Given the description of an element on the screen output the (x, y) to click on. 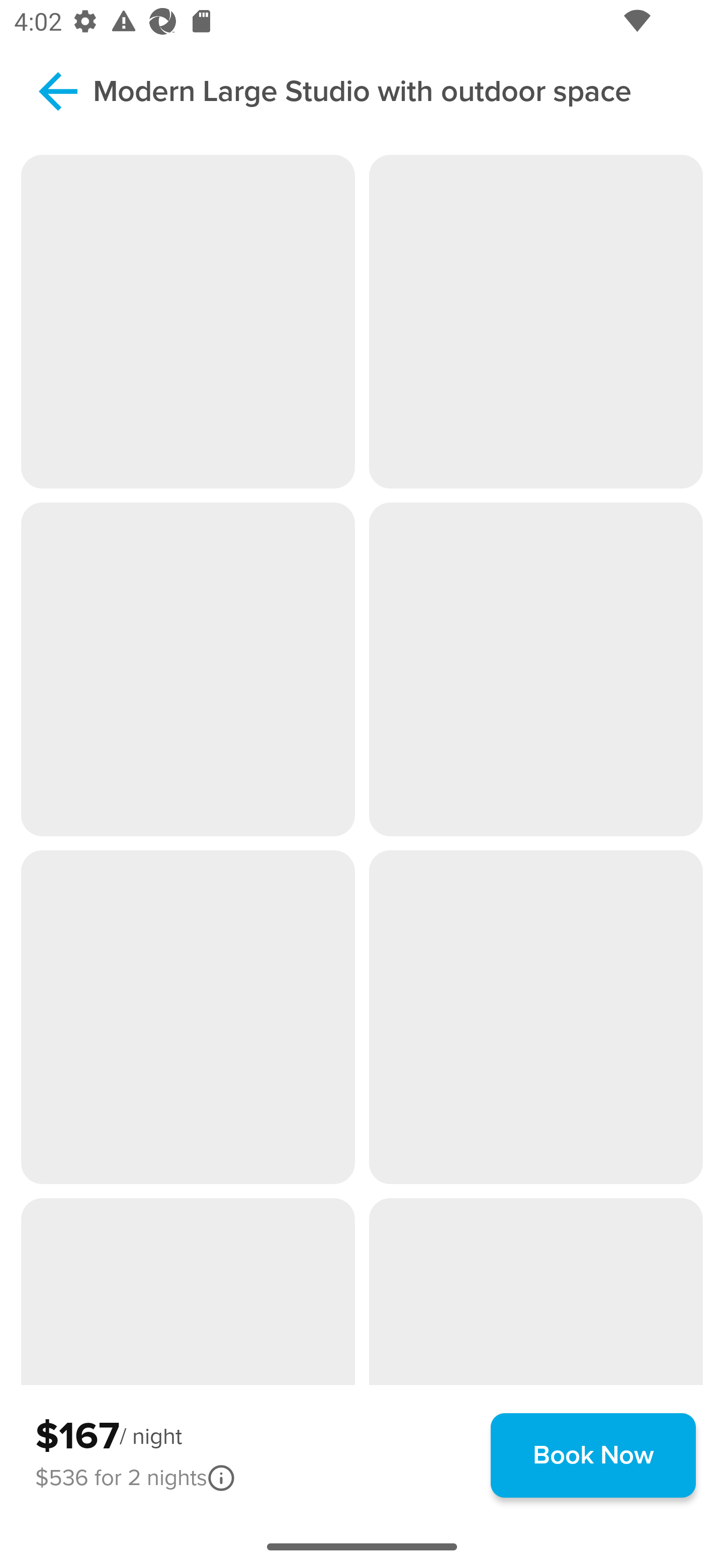
Book Now (592, 1454)
